Given the description of an element on the screen output the (x, y) to click on. 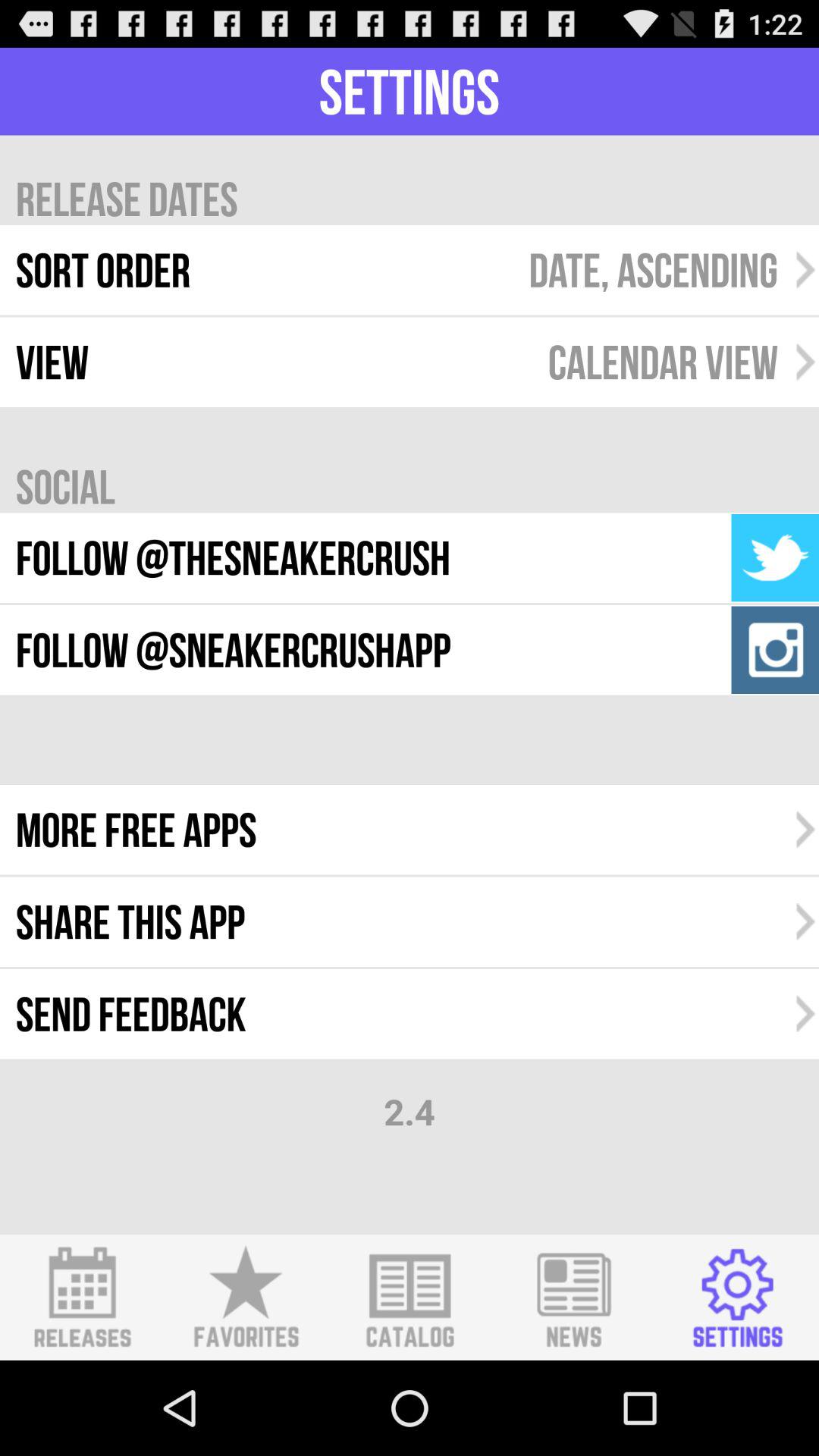
go to catalog (409, 1297)
